Given the description of an element on the screen output the (x, y) to click on. 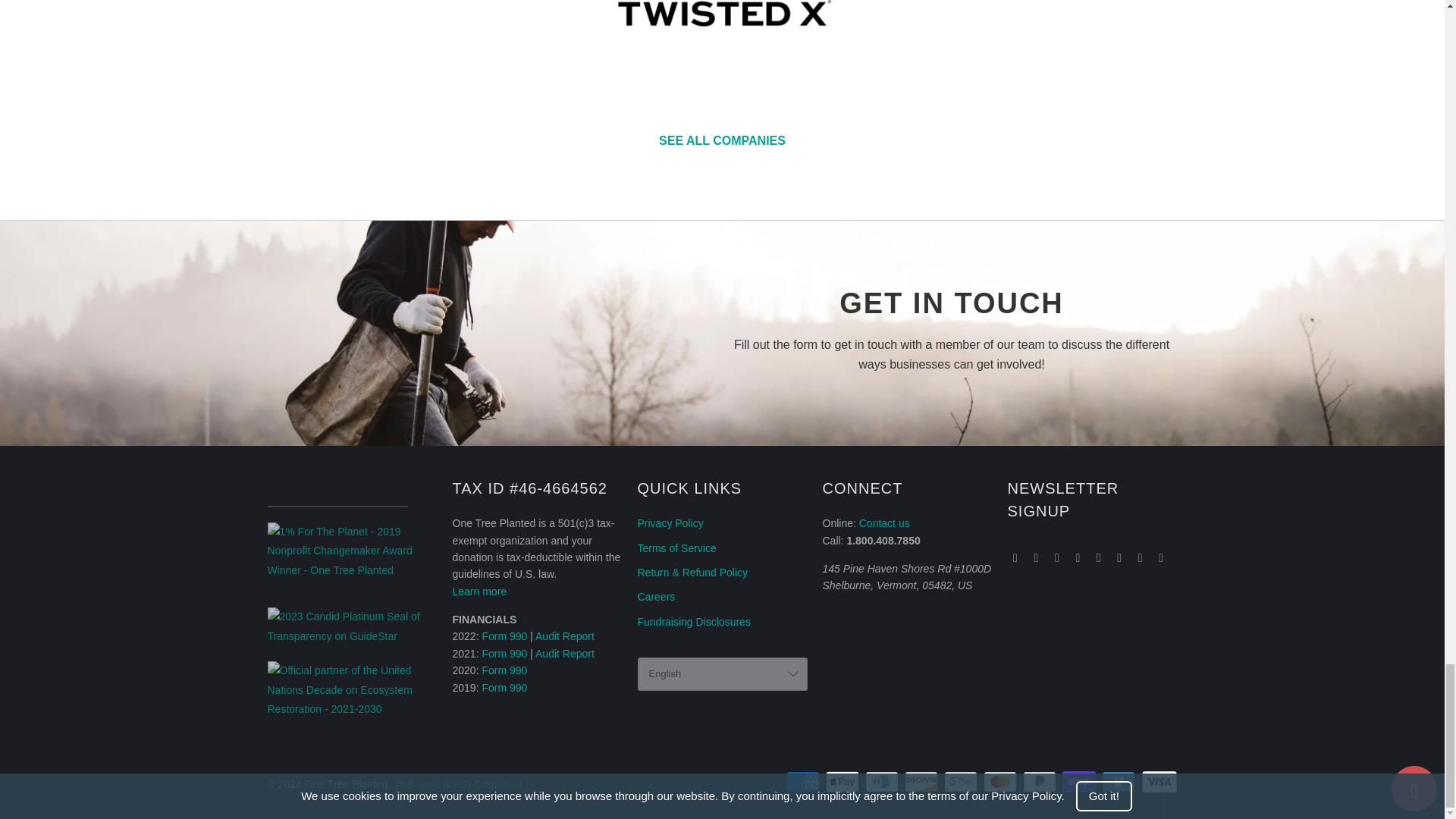
American Express (804, 781)
Venmo (1120, 781)
Apple Pay (843, 781)
Google Pay (961, 781)
Mastercard (1002, 781)
Shop Pay (1080, 781)
PayPal (1041, 781)
Discover (922, 781)
Visa (1158, 781)
Diners Club (882, 781)
